Given the description of an element on the screen output the (x, y) to click on. 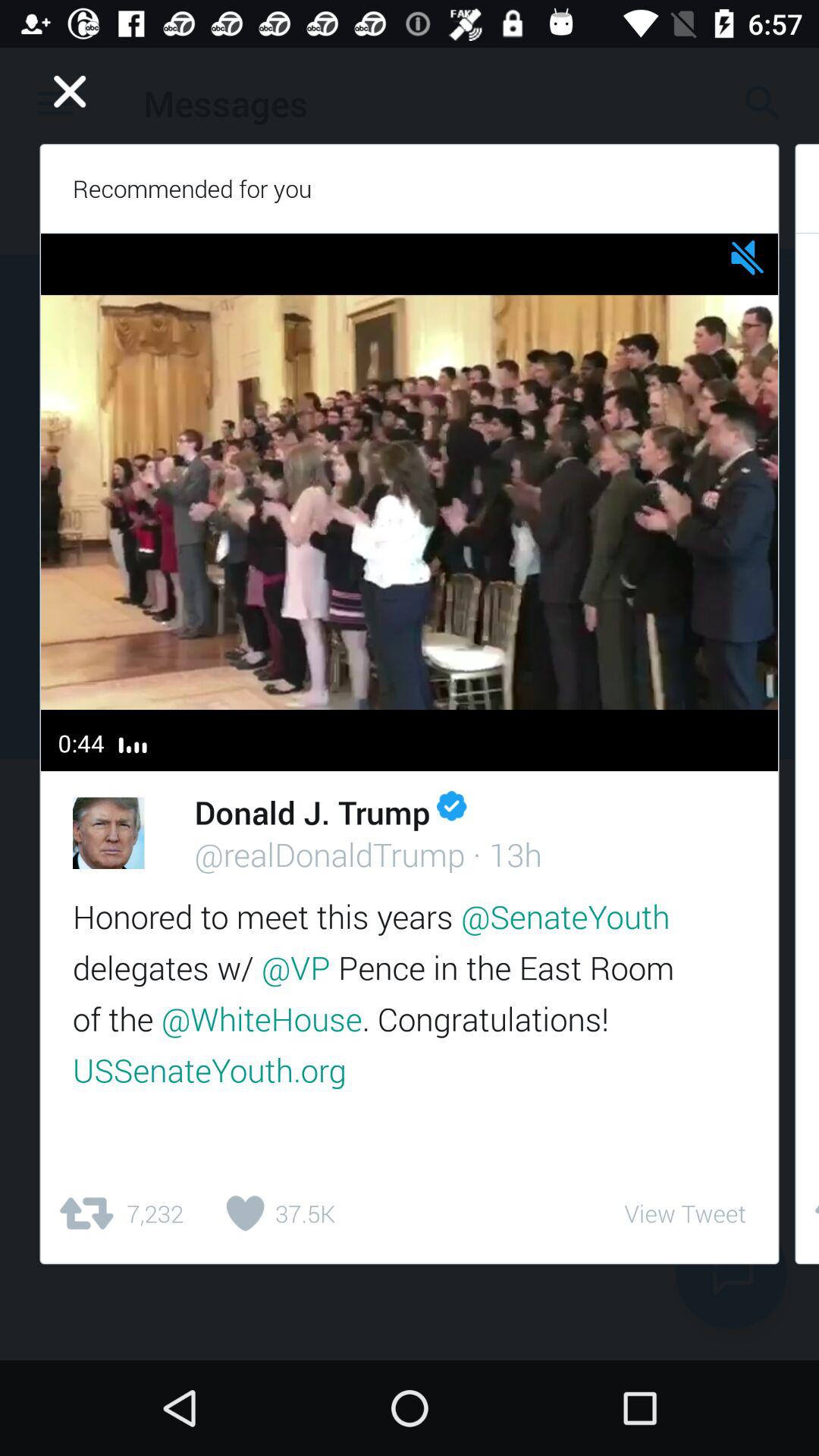
press item to the right of 7,232 item (275, 1213)
